Given the description of an element on the screen output the (x, y) to click on. 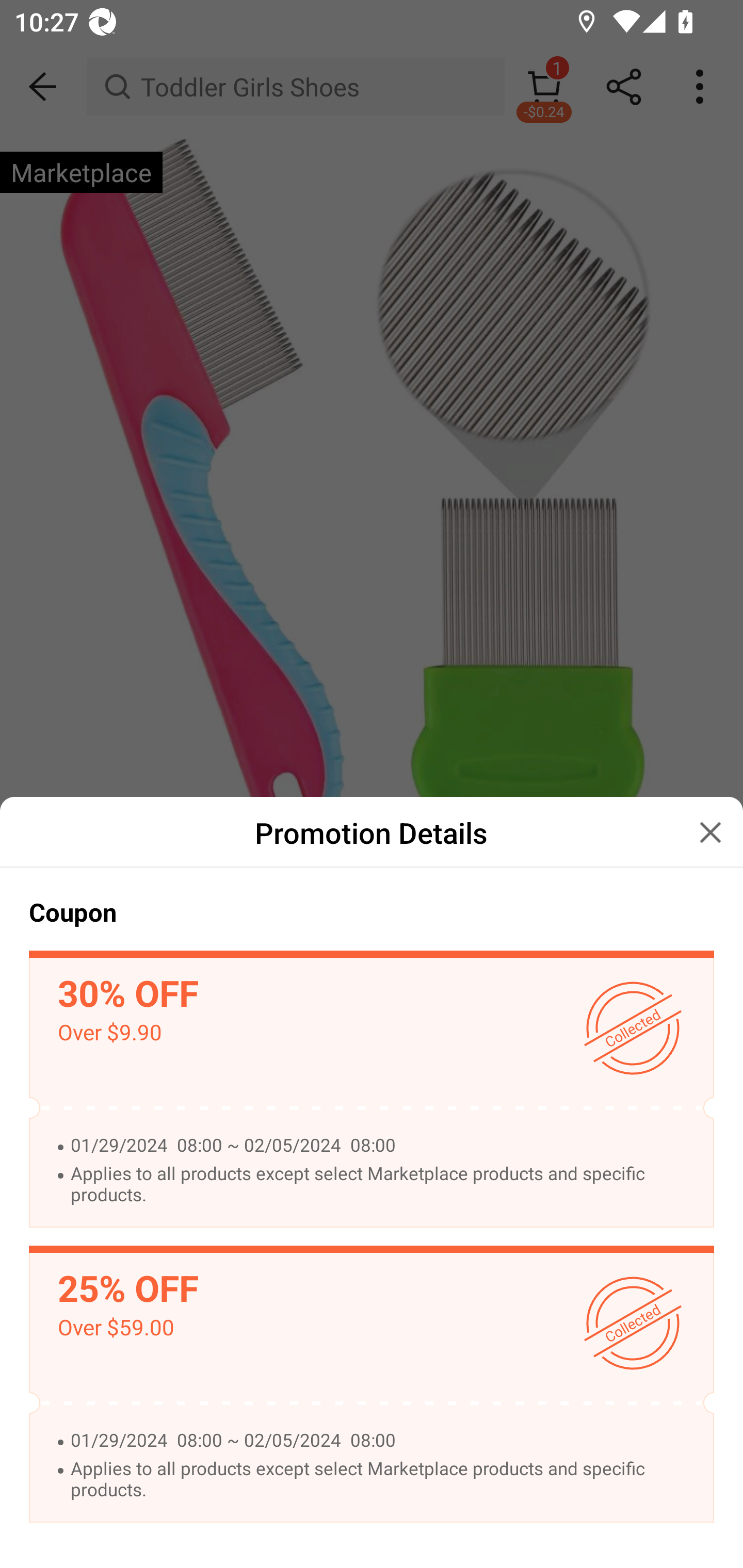
Close (710, 831)
01/29/2024  08:00 ~ 02/05/2024  08:00 (381, 1146)
01/29/2024  08:00 ~ 02/05/2024  08:00 (381, 1440)
